Given the description of an element on the screen output the (x, y) to click on. 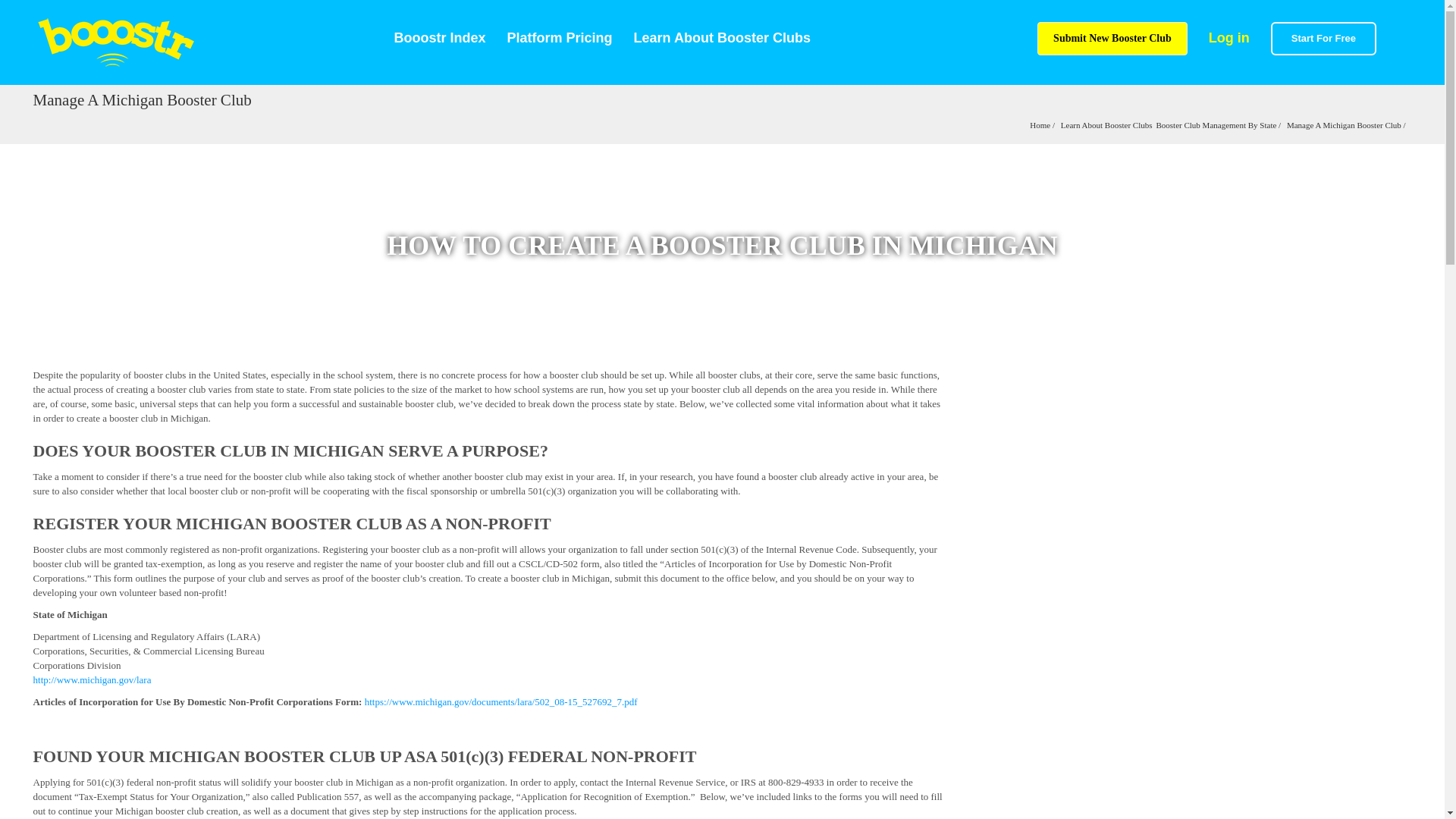
Learn About Booster Clubs (1107, 124)
Learn About Booster Clubs (721, 38)
Platform Pricing (559, 38)
Booostr Index (440, 38)
Booster Club Management By State (1216, 124)
Submit New Booster Club (1112, 38)
Manage A Michigan Booster Club (1343, 124)
Start For Free (1323, 38)
